Given the description of an element on the screen output the (x, y) to click on. 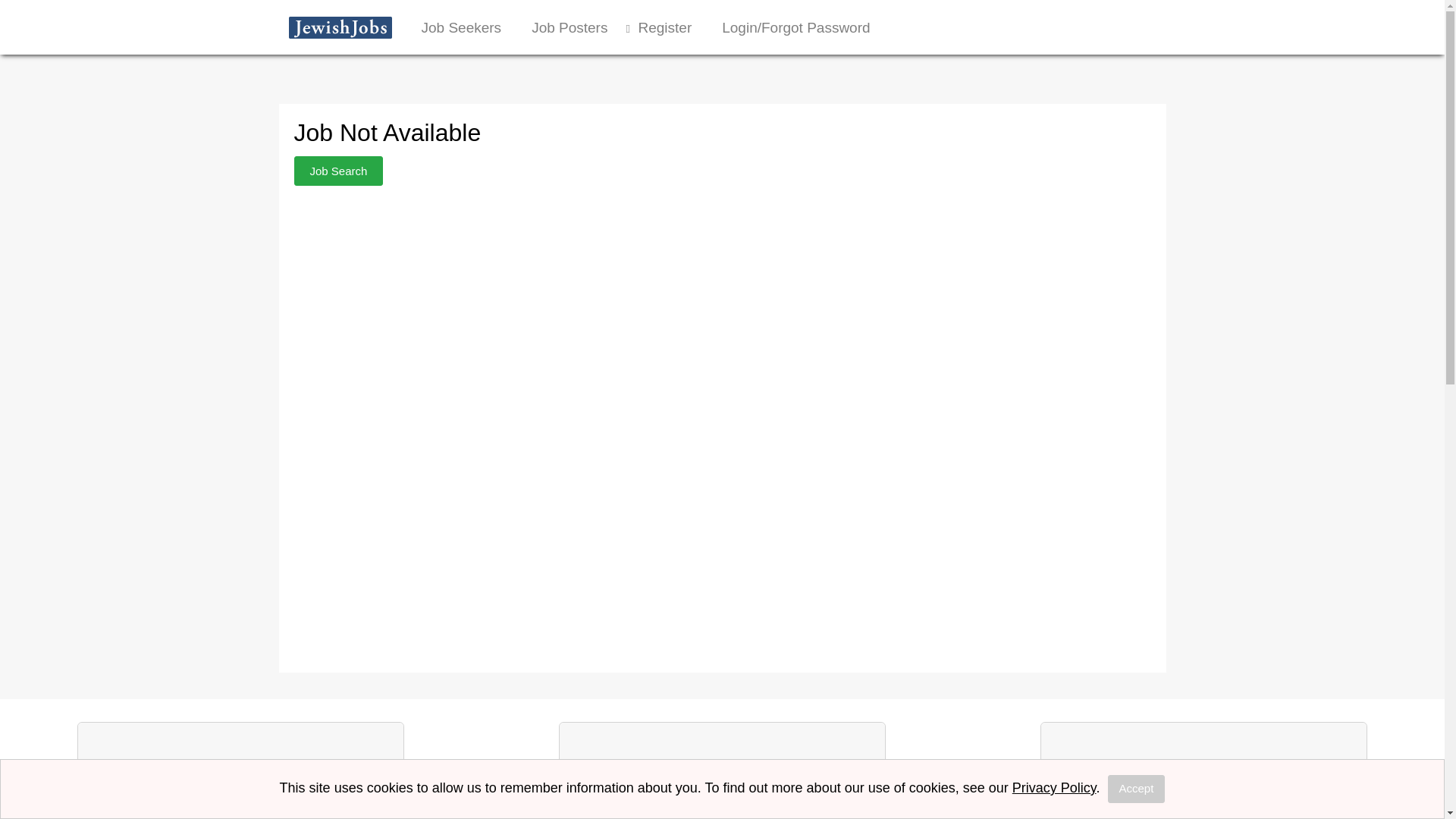
Job Search (339, 170)
355 (240, 796)
510 (721, 796)
Register (664, 27)
Job Search (339, 170)
Jewish Jobs Weekly (1203, 796)
